Given the description of an element on the screen output the (x, y) to click on. 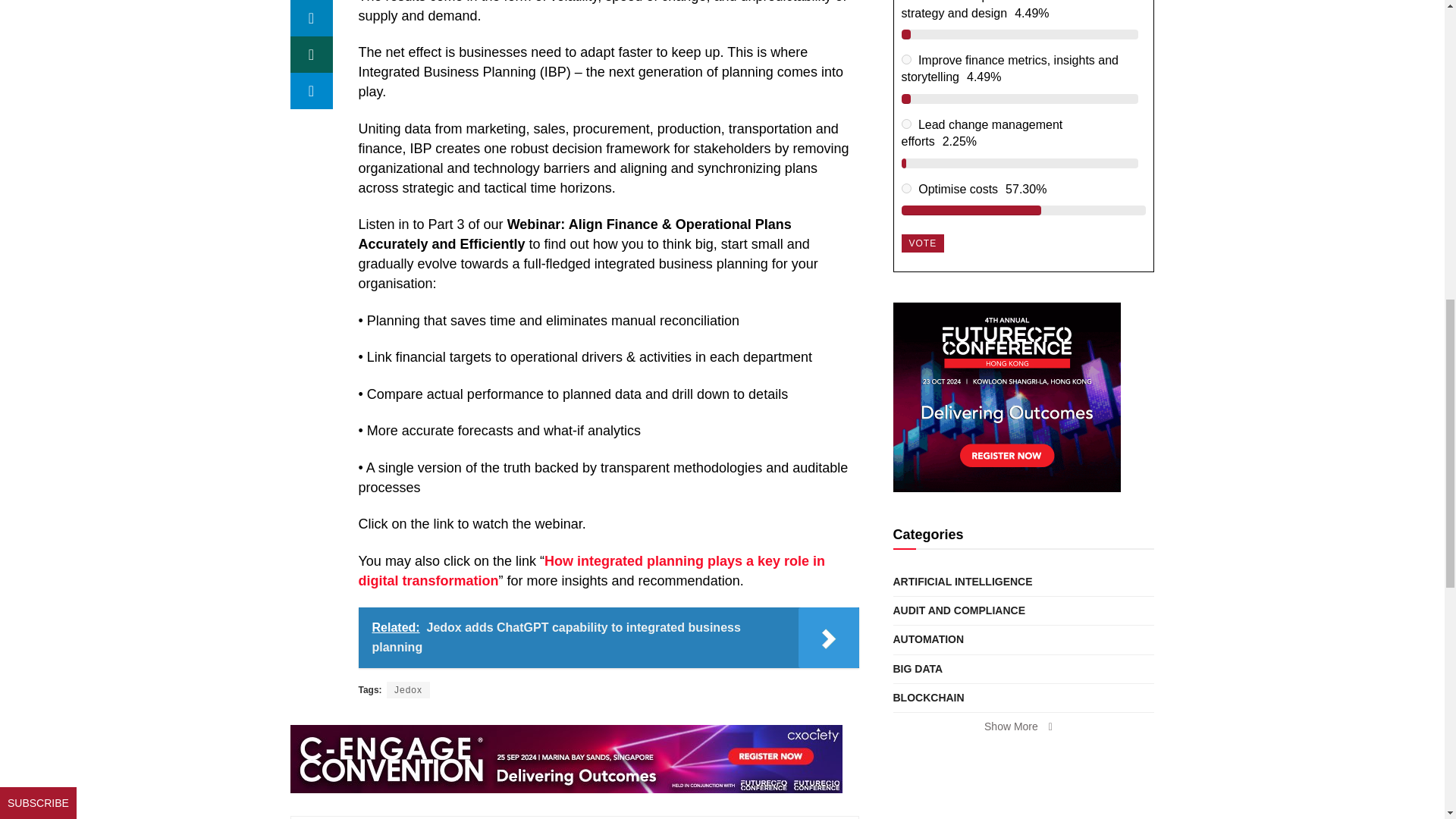
44 (906, 59)
46 (906, 188)
45 (906, 123)
